Given the description of an element on the screen output the (x, y) to click on. 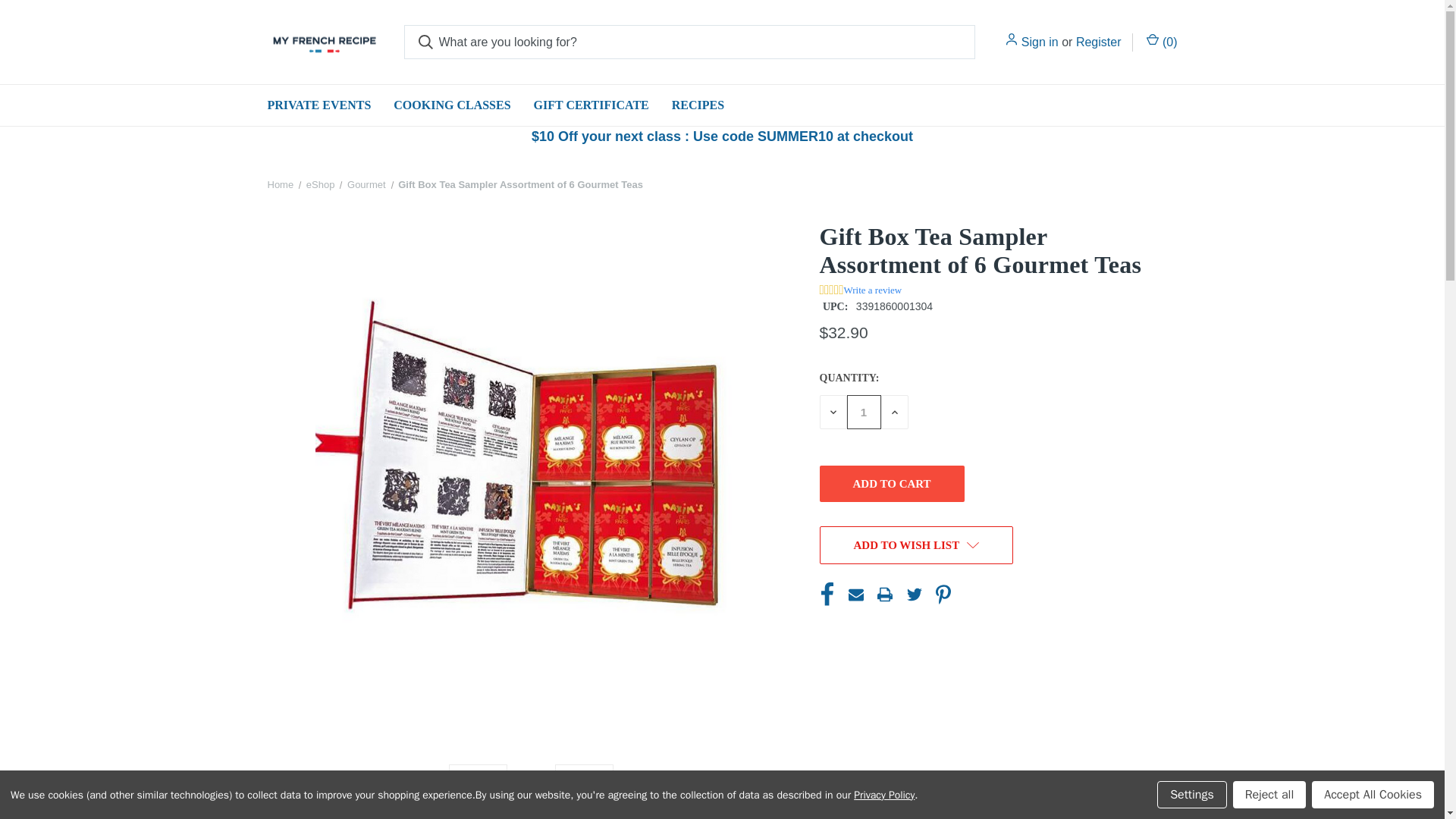
Gift Box Tea Sampler Assortment of 6 Gourmet Teas (520, 184)
Sign in (1040, 42)
Add to Cart (890, 484)
PRIVATE EVENTS (319, 105)
RECIPES (698, 105)
Gourmet (366, 184)
My French Recipe (323, 41)
Home (280, 184)
GIFT CERTIFICATE (591, 105)
Add to Cart (890, 484)
Write a review (873, 290)
ADD TO WISH LIST (915, 545)
eShop (319, 184)
1 (862, 410)
